Given the description of an element on the screen output the (x, y) to click on. 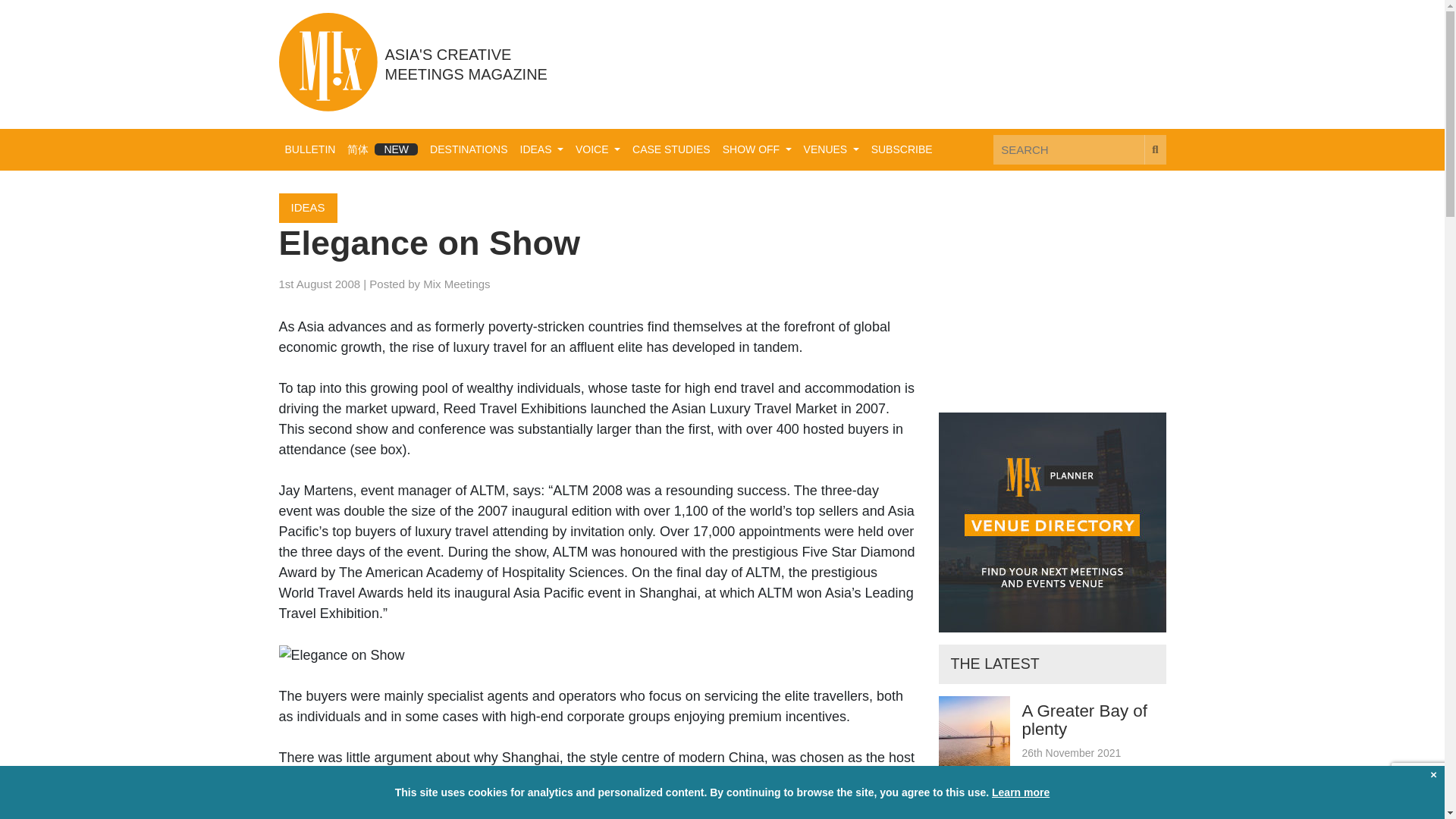
Ideas (541, 149)
CASE STUDIES (671, 149)
VOICE (597, 149)
Case Studies (671, 149)
Mix Meetings (456, 283)
DESTINATIONS (468, 149)
Voice (597, 149)
IDEAS (541, 149)
Bulletin (310, 149)
SHOW OFF (756, 149)
SUBSCRIBE (901, 149)
Destinations (468, 149)
3rd party ad content (890, 63)
VENUES (830, 149)
IDEAS (308, 207)
